Given the description of an element on the screen output the (x, y) to click on. 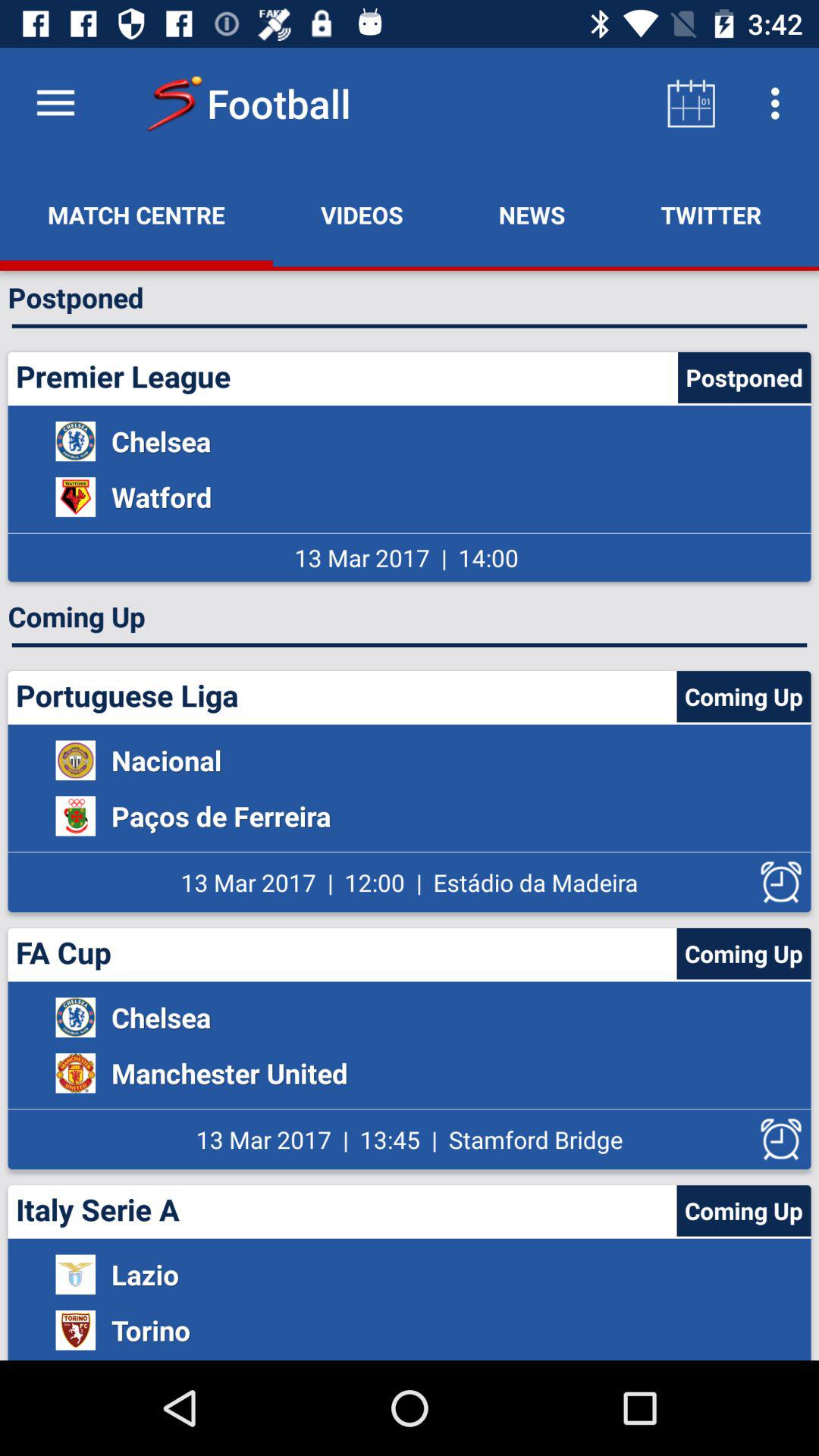
click item to the right of the twitter (814, 214)
